Given the description of an element on the screen output the (x, y) to click on. 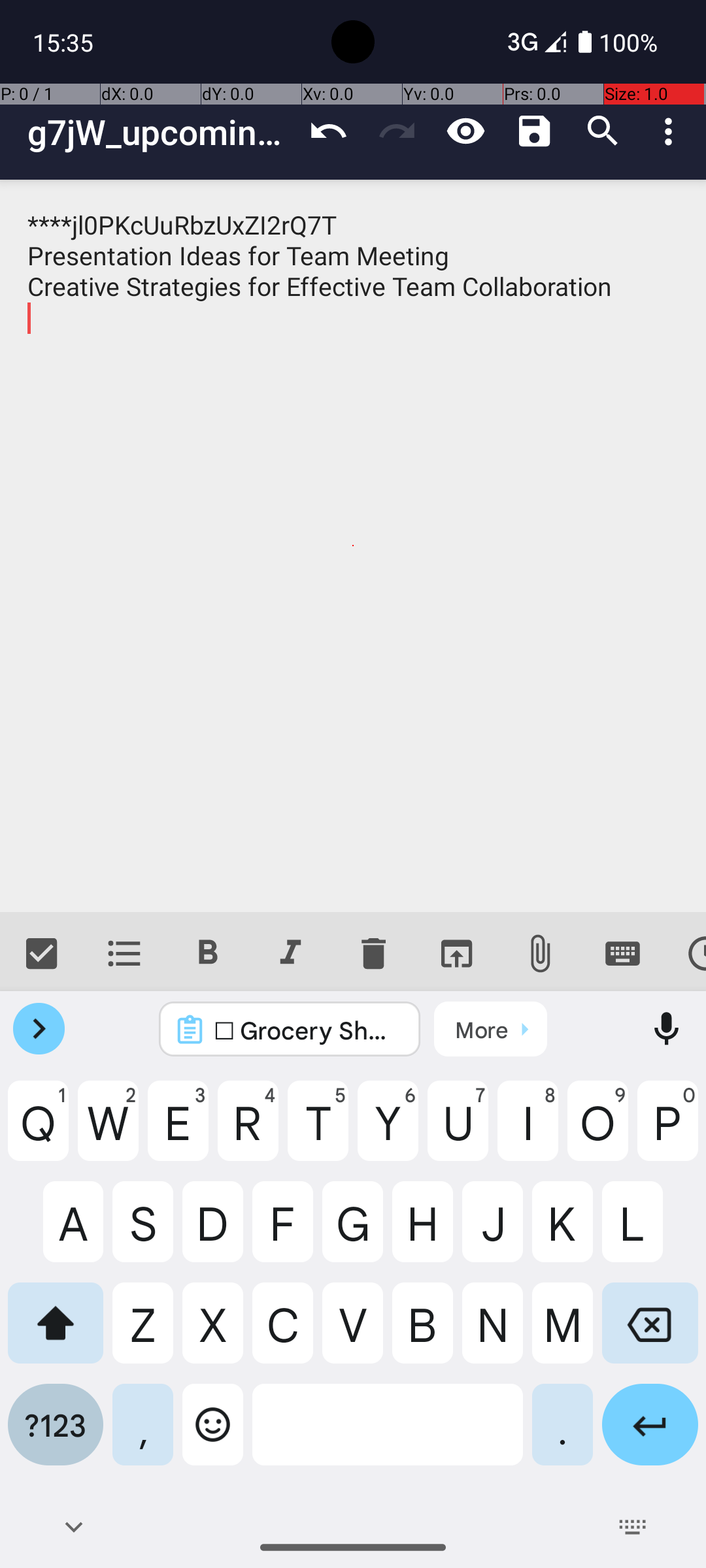
g7jW_upcoming_presentation_outline Element type: android.widget.TextView (160, 131)
****jl0PKcUuRbzUxZI2rQ7T
Presentation Ideas for Team Meeting
Creative Strategies for Effective Team Collaboration
 Element type: android.widget.EditText (353, 545)
☐ Grocery Shopping ☐ Call Grandma ☐ Attend Team Meeting ☐ Take Dog to the Vet ☐ Finish Project Proposal ☐ Water Plants ☐ Reply to Emails ☐ Change Air Filter ☐ Submit Expense Report ☐ Submit Budget Report ☑ Read 'The Martian' ☑ Grocery Shopping ☑ Submit Expense Report ☑ Brainstorm Blog Post Ideas ☑ Change Air Filter ☑ Research Vacation Destinations ☑ Finish Project Proposal ☑ Change Air Filter ☑ Take Dog to the Vet ☑ Submit Expense Report ☑ Learn to Play Guitar Element type: android.widget.TextView (306, 1029)
